Given the description of an element on the screen output the (x, y) to click on. 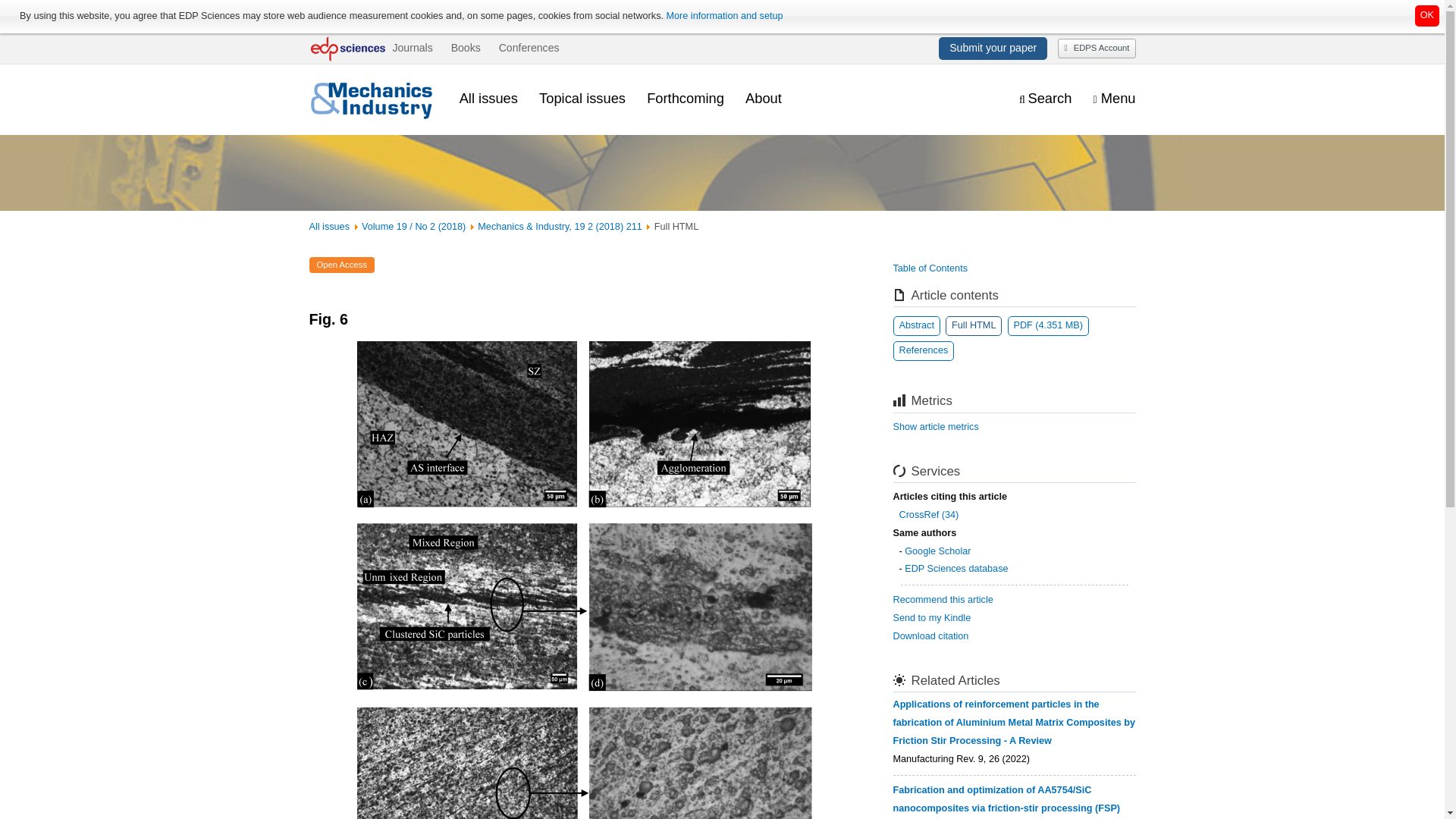
OK (1427, 15)
Abstract (916, 325)
References (924, 351)
Click to close this notification (1427, 15)
Journals (411, 47)
Submit your paper (992, 47)
Books (465, 47)
Journal homepage (373, 99)
Display the search engine (1045, 98)
Send this article to my Kindle (932, 617)
